Given the description of an element on the screen output the (x, y) to click on. 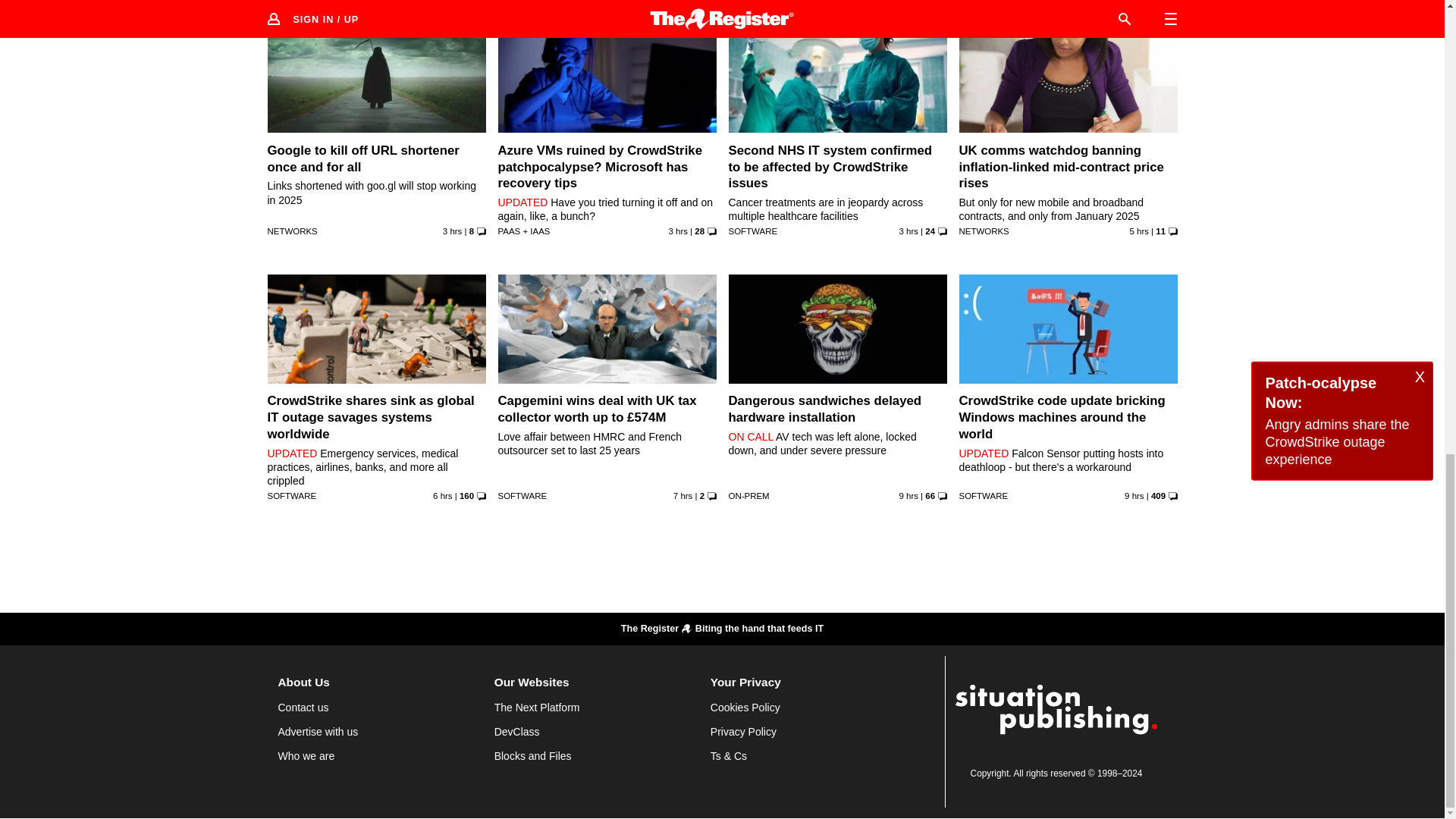
19 Jul 2024 12:43 (908, 230)
19 Jul 2024 11:22 (1138, 230)
19 Jul 2024 7:29 (908, 495)
19 Jul 2024 9:53 (442, 495)
19 Jul 2024 6:46 (1134, 495)
19 Jul 2024 13:29 (452, 230)
19 Jul 2024 12:47 (677, 230)
19 Jul 2024 8:43 (682, 495)
